Given the description of an element on the screen output the (x, y) to click on. 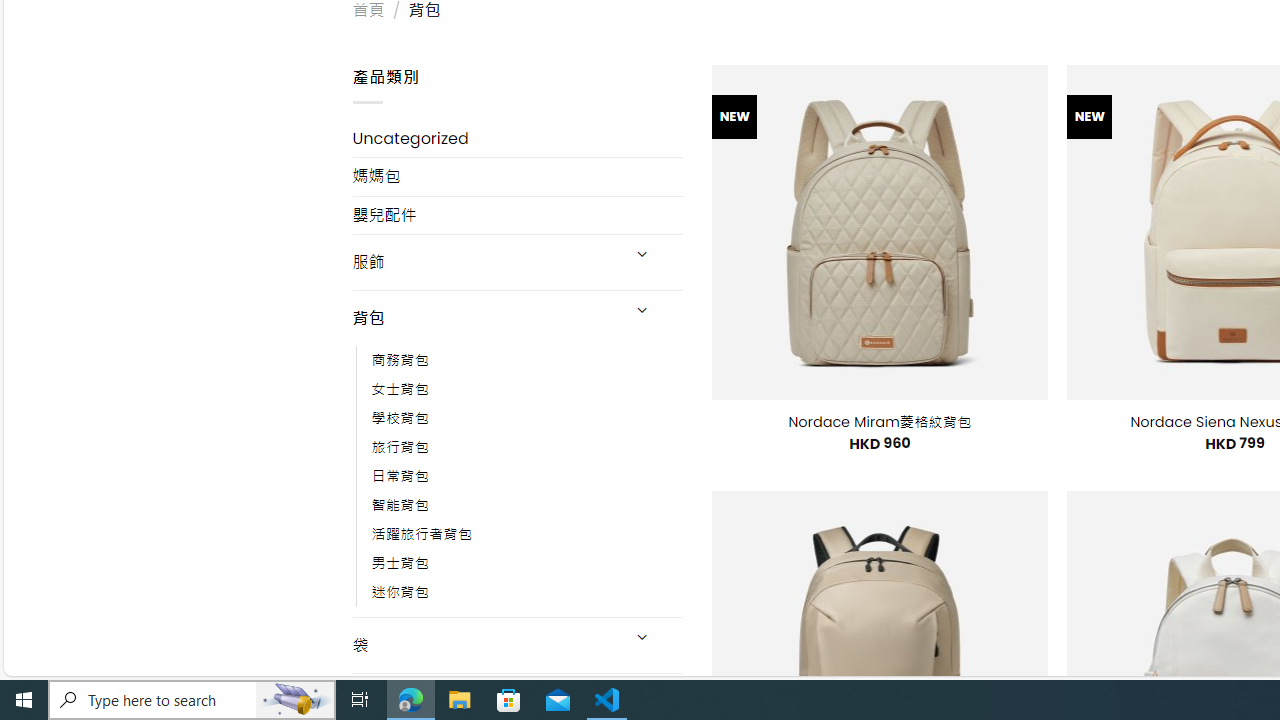
Uncategorized (517, 137)
Uncategorized (517, 137)
